Given the description of an element on the screen output the (x, y) to click on. 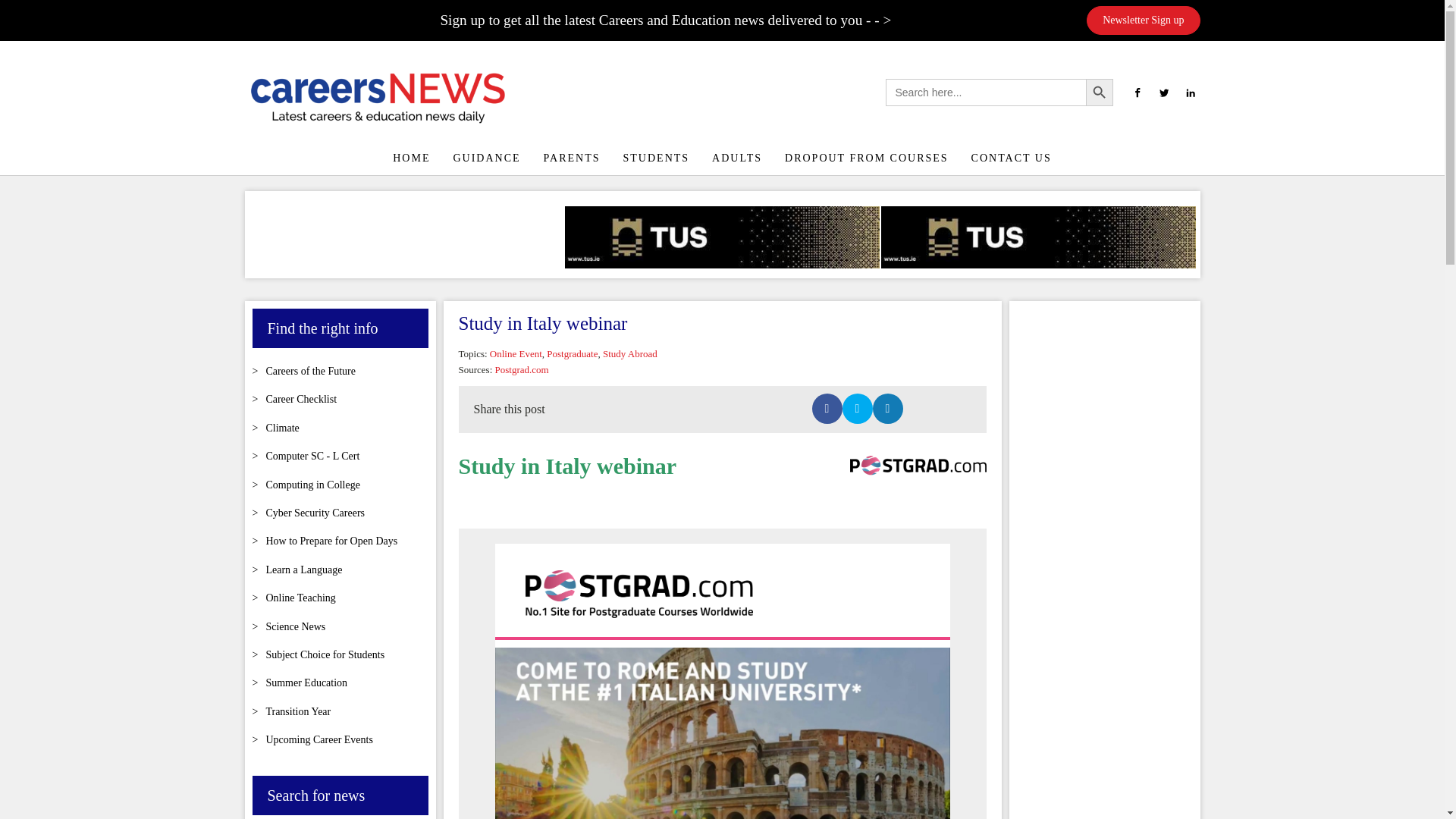
HOME (411, 158)
GUIDANCE (486, 158)
Newsletter Sign up (1142, 20)
PARENTS (571, 158)
Search Button (1099, 92)
STUDENTS (656, 158)
